Given the description of an element on the screen output the (x, y) to click on. 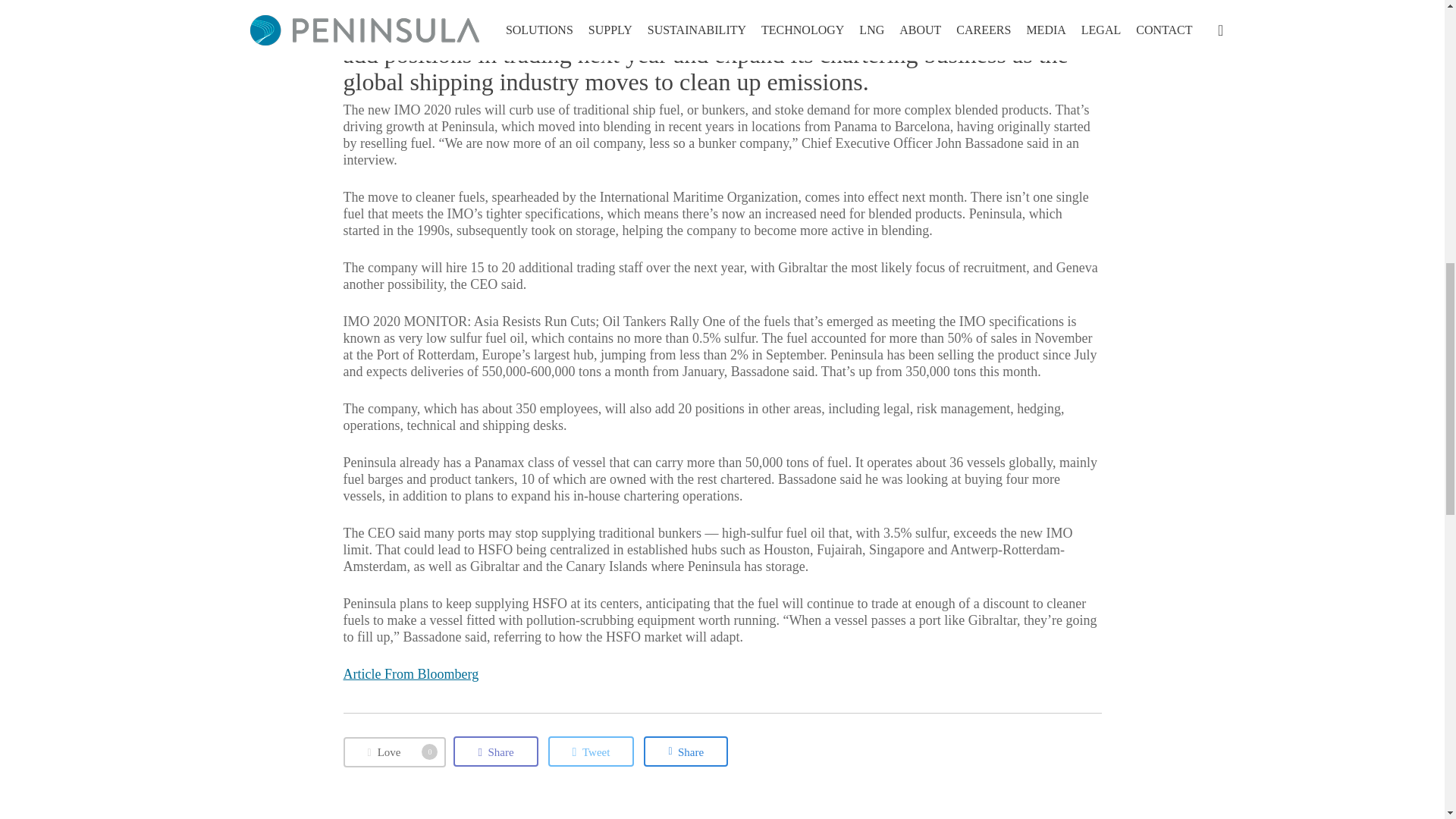
Share (685, 751)
Article From Bloomberg (410, 673)
Share this (494, 751)
Tweet (591, 751)
Share this (685, 751)
Tweet this (591, 751)
Love this (393, 752)
Share (393, 752)
